Given the description of an element on the screen output the (x, y) to click on. 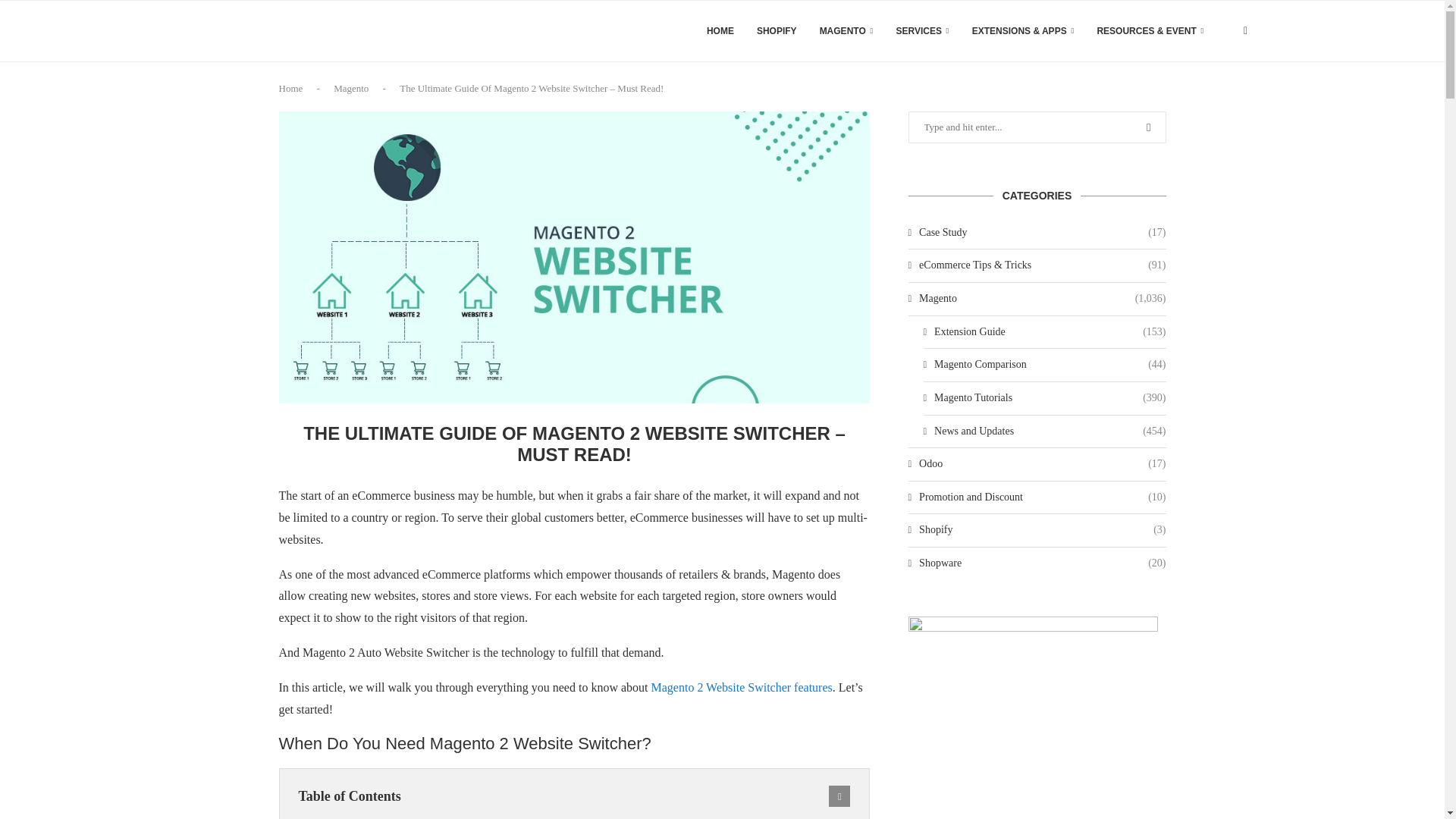
Magento (350, 88)
Home (290, 88)
Magento 2 Website Switcher features (741, 686)
